Given the description of an element on the screen output the (x, y) to click on. 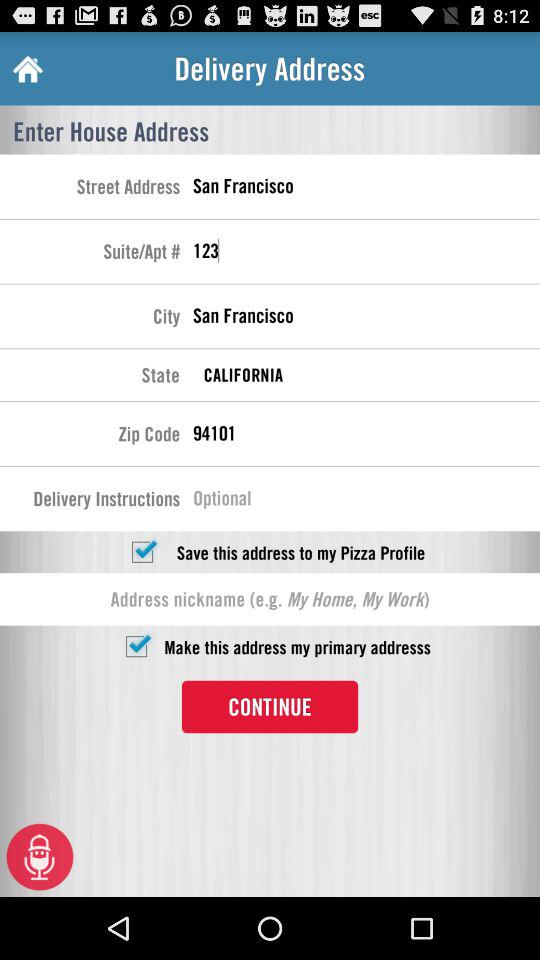
save (142, 552)
